Given the description of an element on the screen output the (x, y) to click on. 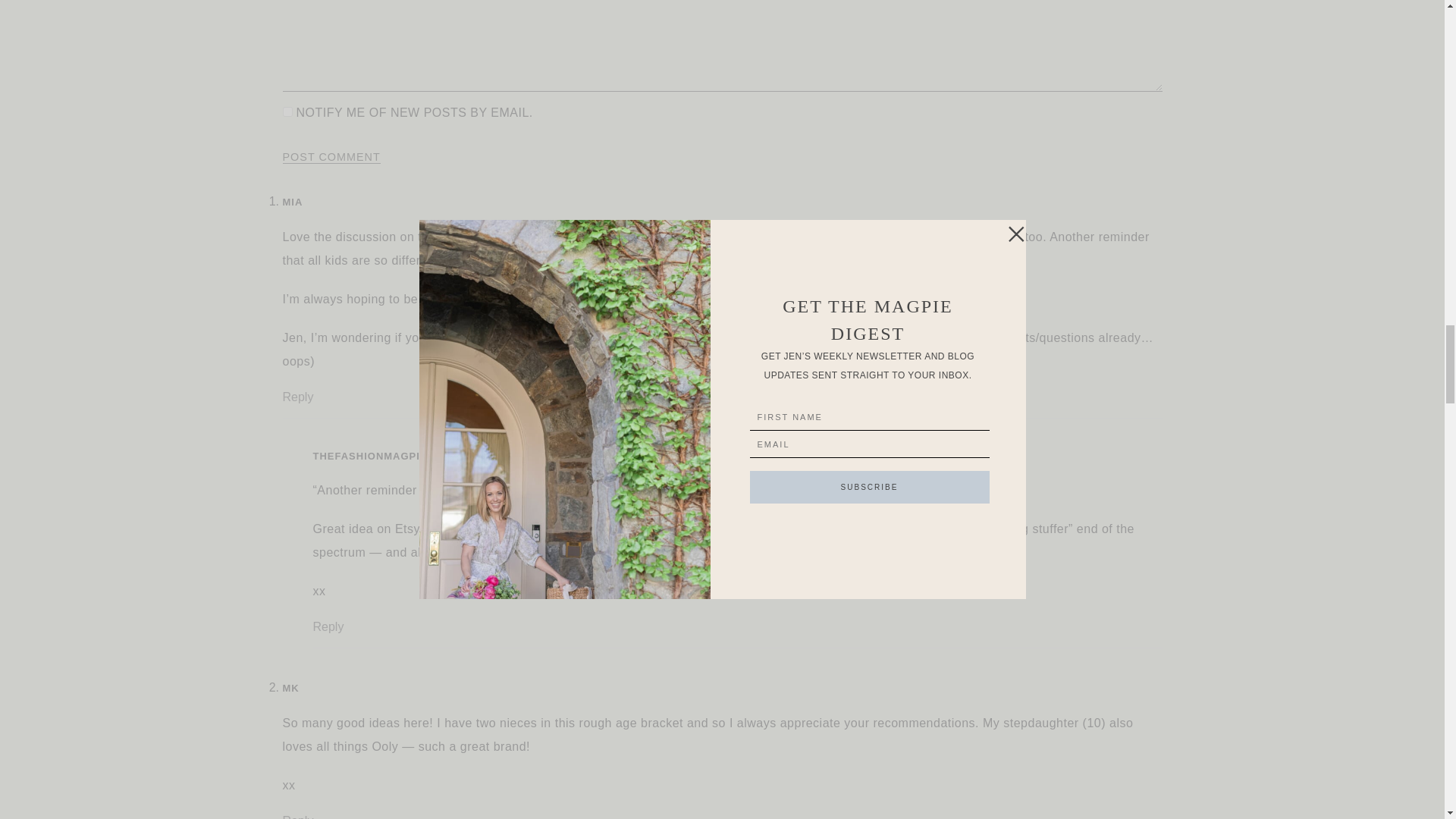
subscribe (287, 112)
Post Comment (331, 156)
